Given the description of an element on the screen output the (x, y) to click on. 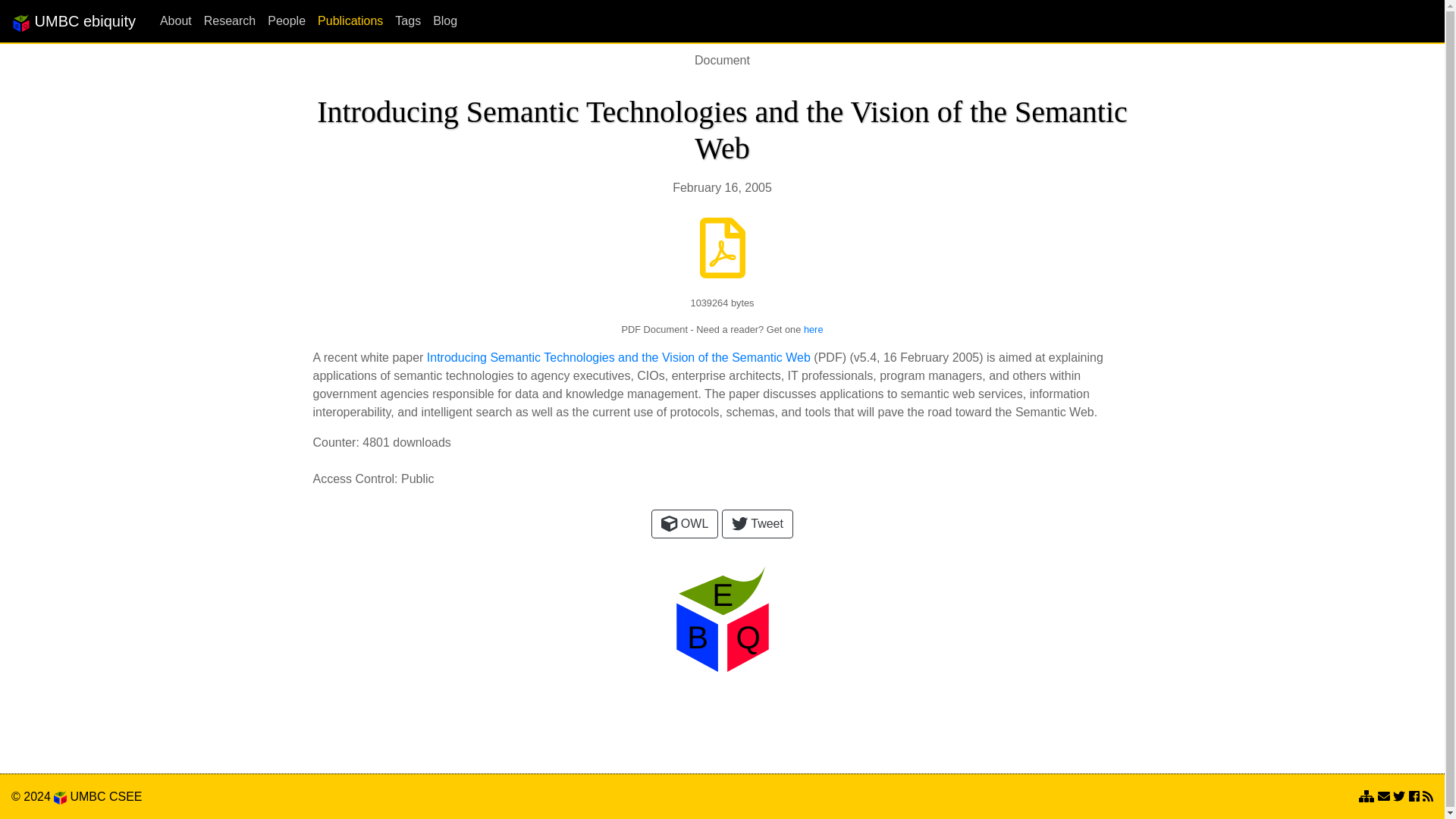
Tags (401, 20)
Tweet (757, 523)
Publications (343, 20)
UMBC ebiquity (73, 20)
People (280, 20)
 UMBC ebiquity (73, 20)
About (170, 20)
Research (224, 20)
Blog (438, 20)
